Given the description of an element on the screen output the (x, y) to click on. 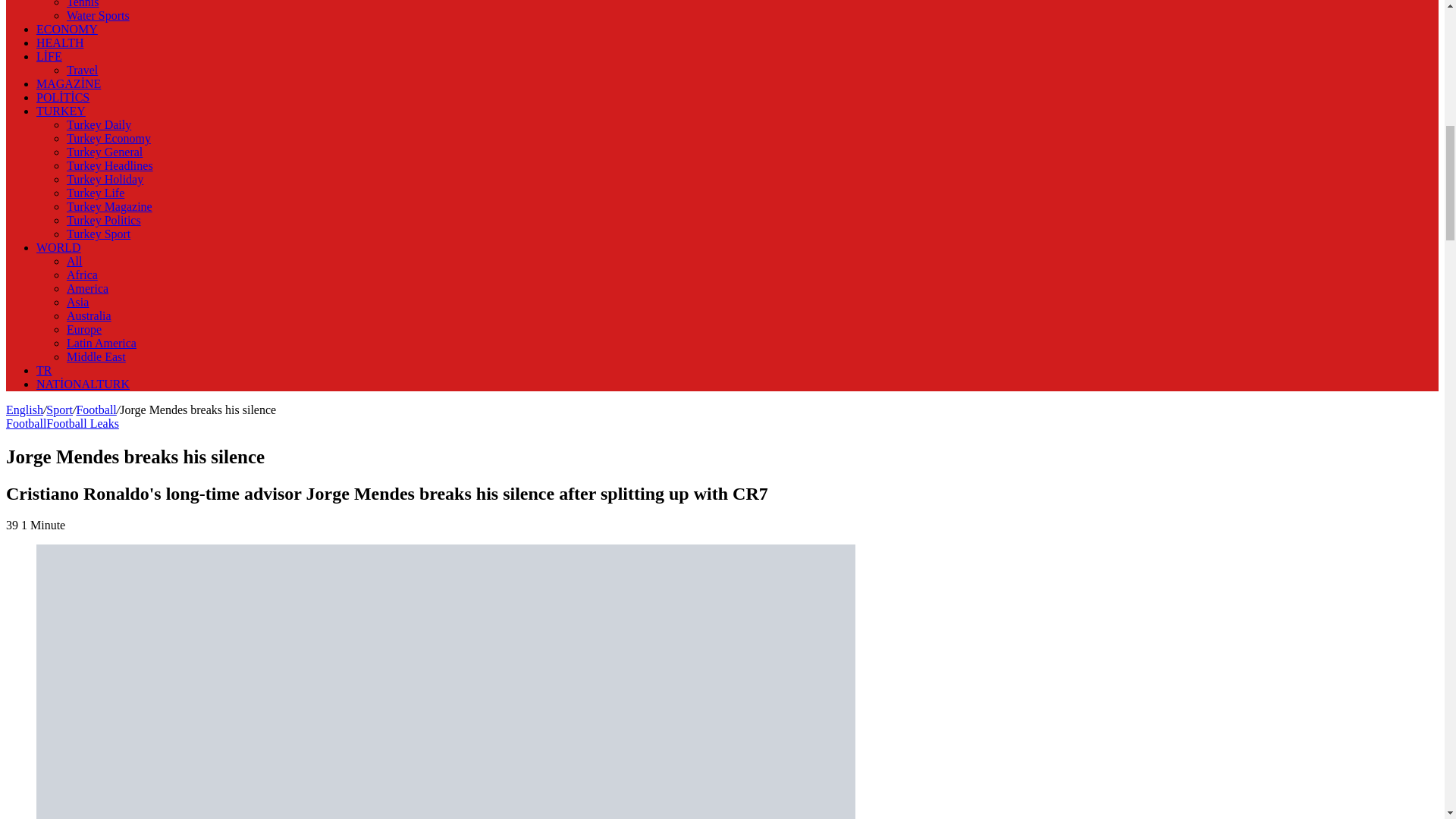
Travel (81, 69)
Water Sports (97, 15)
ECONOMY (66, 29)
TURKEY (60, 110)
HEALTH (60, 42)
POLITICS (62, 97)
Tennis (82, 4)
LIFE (49, 56)
MAGAZINE (68, 83)
